Given the description of an element on the screen output the (x, y) to click on. 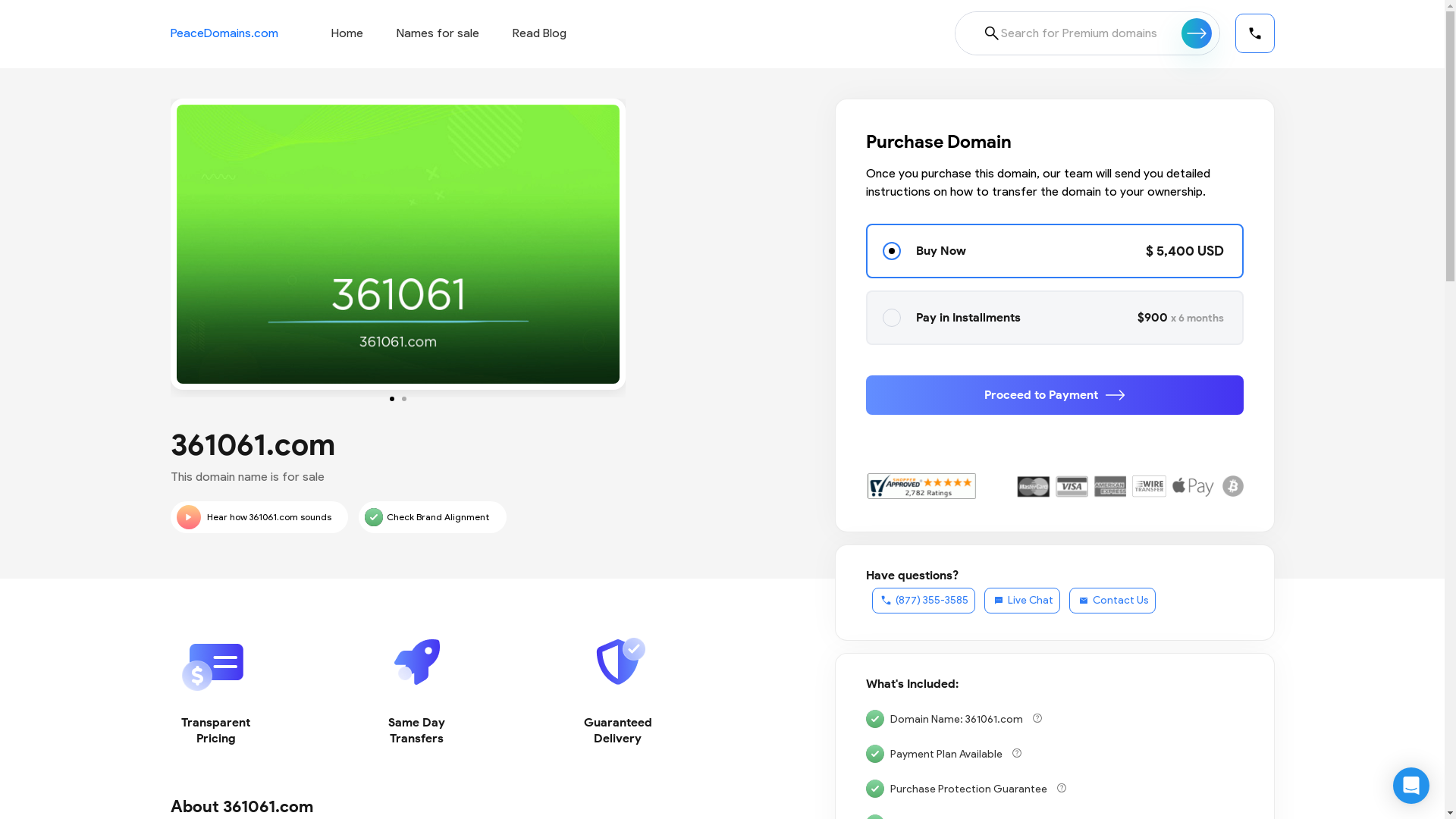
Names for sale Element type: text (436, 33)
(877) 355-3585 Element type: text (923, 600)
Hear how 361061.com sounds Element type: text (258, 517)
Read Blog Element type: text (539, 33)
Home Element type: text (346, 33)
Contact Us Element type: text (1112, 600)
Buy Now
$ 5,400 USD Element type: text (1054, 250)
PeaceDomains.com Element type: text (223, 33)
Live Chat Element type: text (1022, 600)
Check Brand Alignment Element type: text (431, 517)
Proceed to Payment Element type: text (1054, 394)
